Given the description of an element on the screen output the (x, y) to click on. 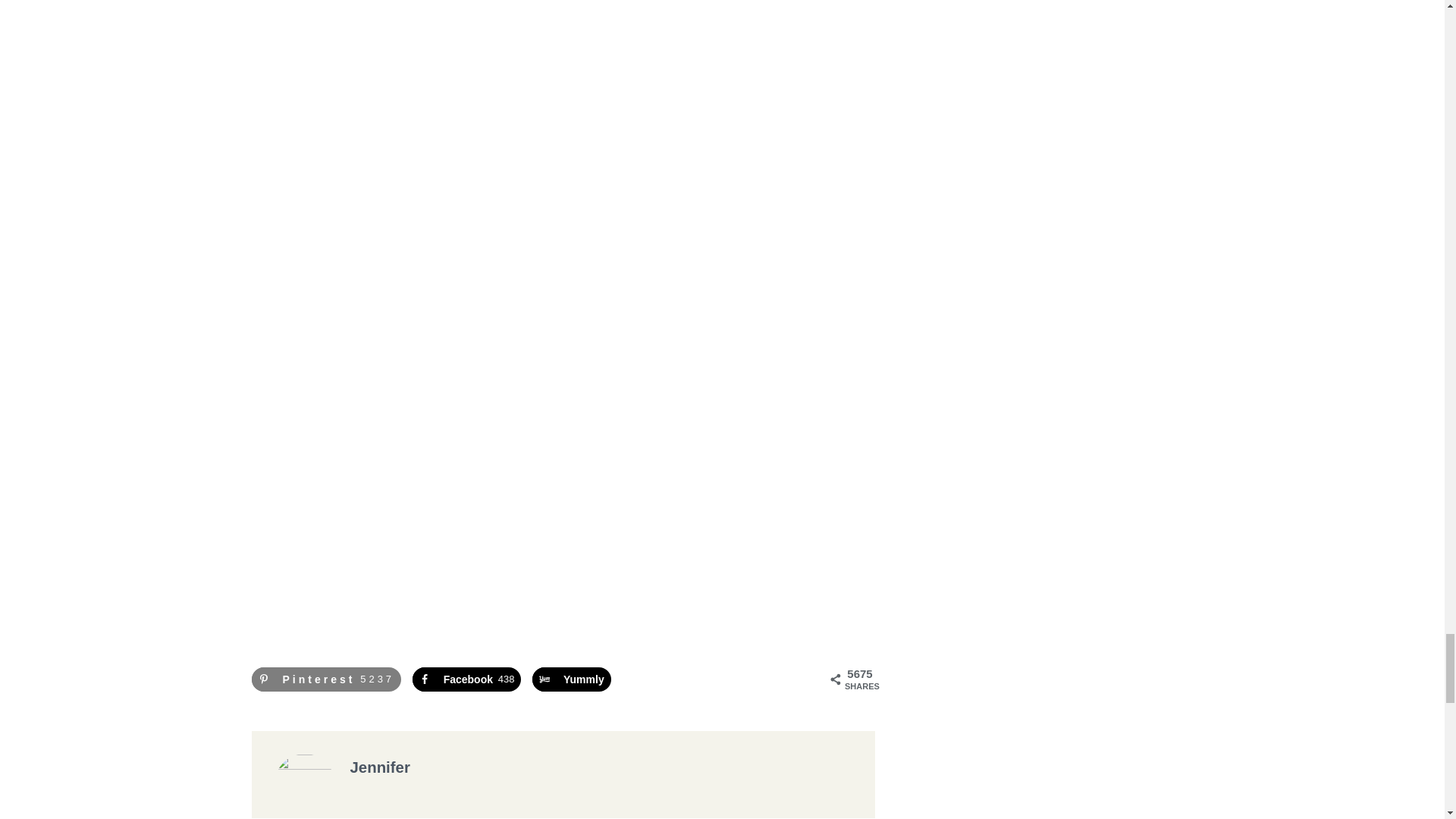
Share on Yummly (571, 679)
Posts by Jennifer (380, 767)
Save to Pinterest (326, 679)
Share on Facebook (466, 679)
